Given the description of an element on the screen output the (x, y) to click on. 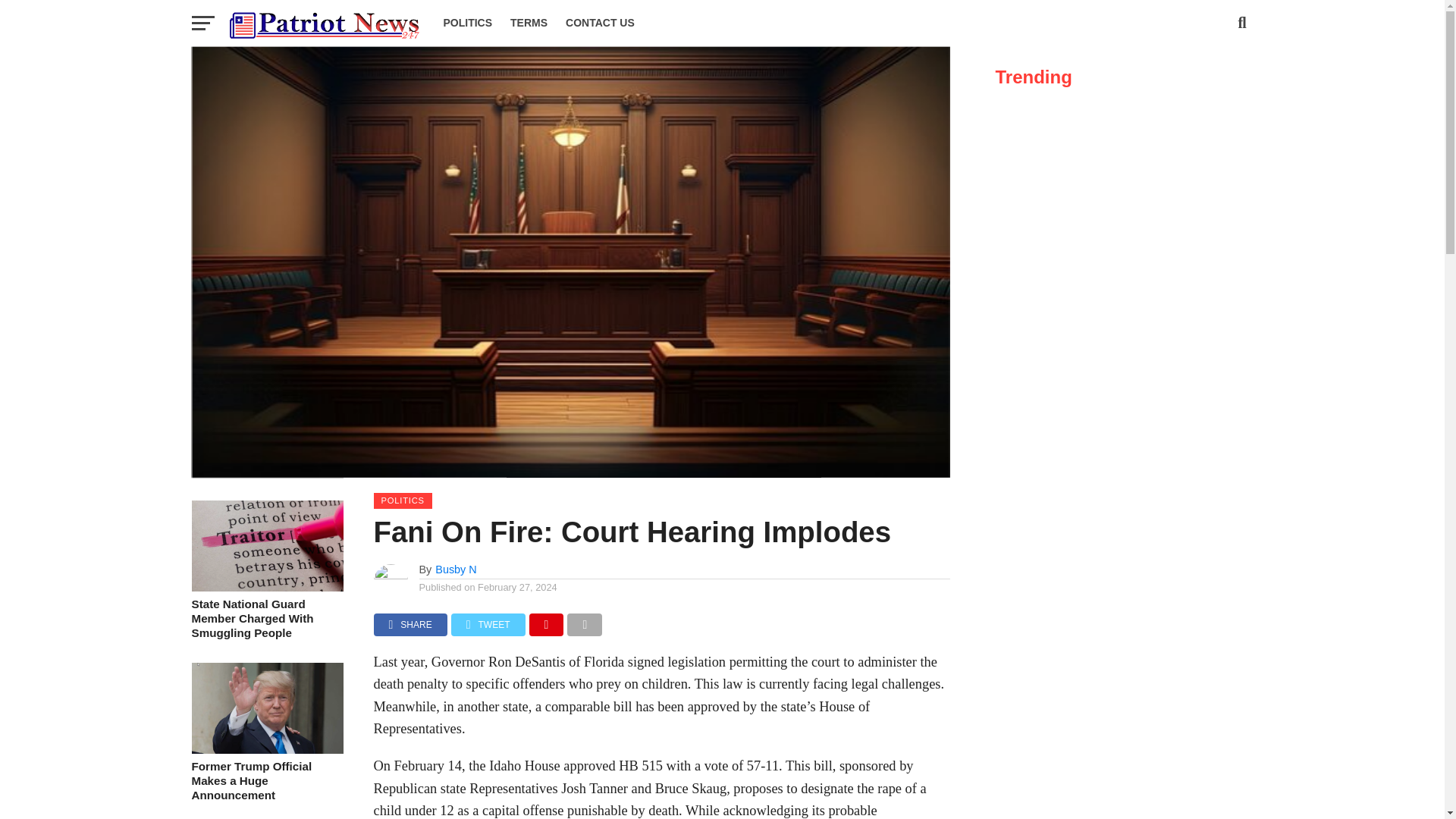
Posts by Busby N (455, 569)
TERMS (528, 22)
CONTACT US (599, 22)
State National Guard Member Charged With Smuggling People (266, 586)
State National Guard Member Charged With Smuggling People (266, 618)
Busby N (455, 569)
POLITICS (466, 22)
Former Trump Official Makes a Huge Announcement (266, 781)
Former Trump Official Makes a Huge Announcement (266, 748)
